Given the description of an element on the screen output the (x, y) to click on. 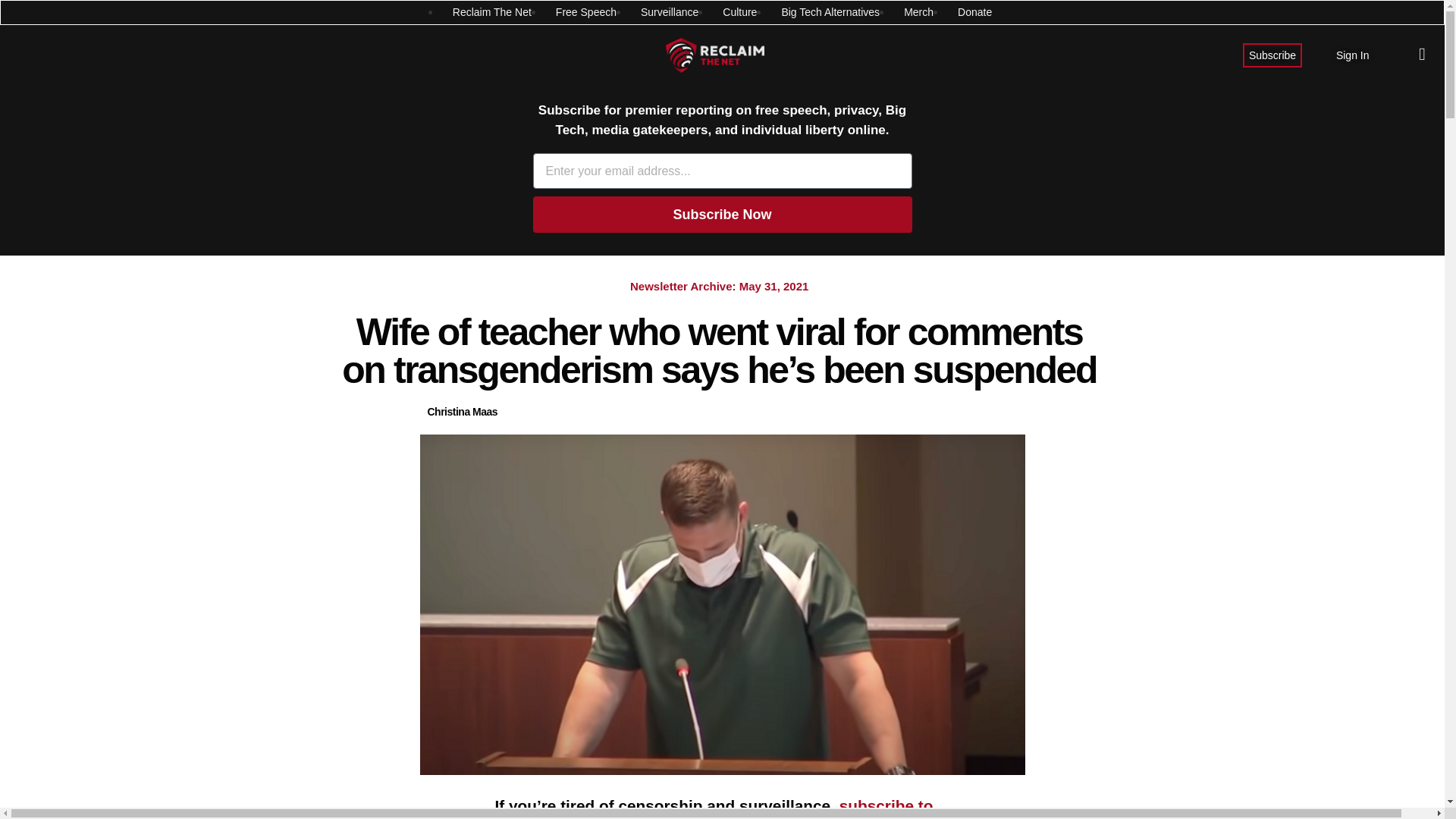
Reclaim The Net (491, 12)
Subscribe (1272, 55)
Surveillance (669, 12)
Sign In (1353, 55)
Donate (974, 12)
Subscribe Now (721, 214)
Free Speech (585, 12)
Culture (739, 12)
Merch (918, 12)
Big Tech Alternatives (829, 12)
Christina Maas (462, 412)
subscribe to Reclaim The Net. (714, 807)
